Given the description of an element on the screen output the (x, y) to click on. 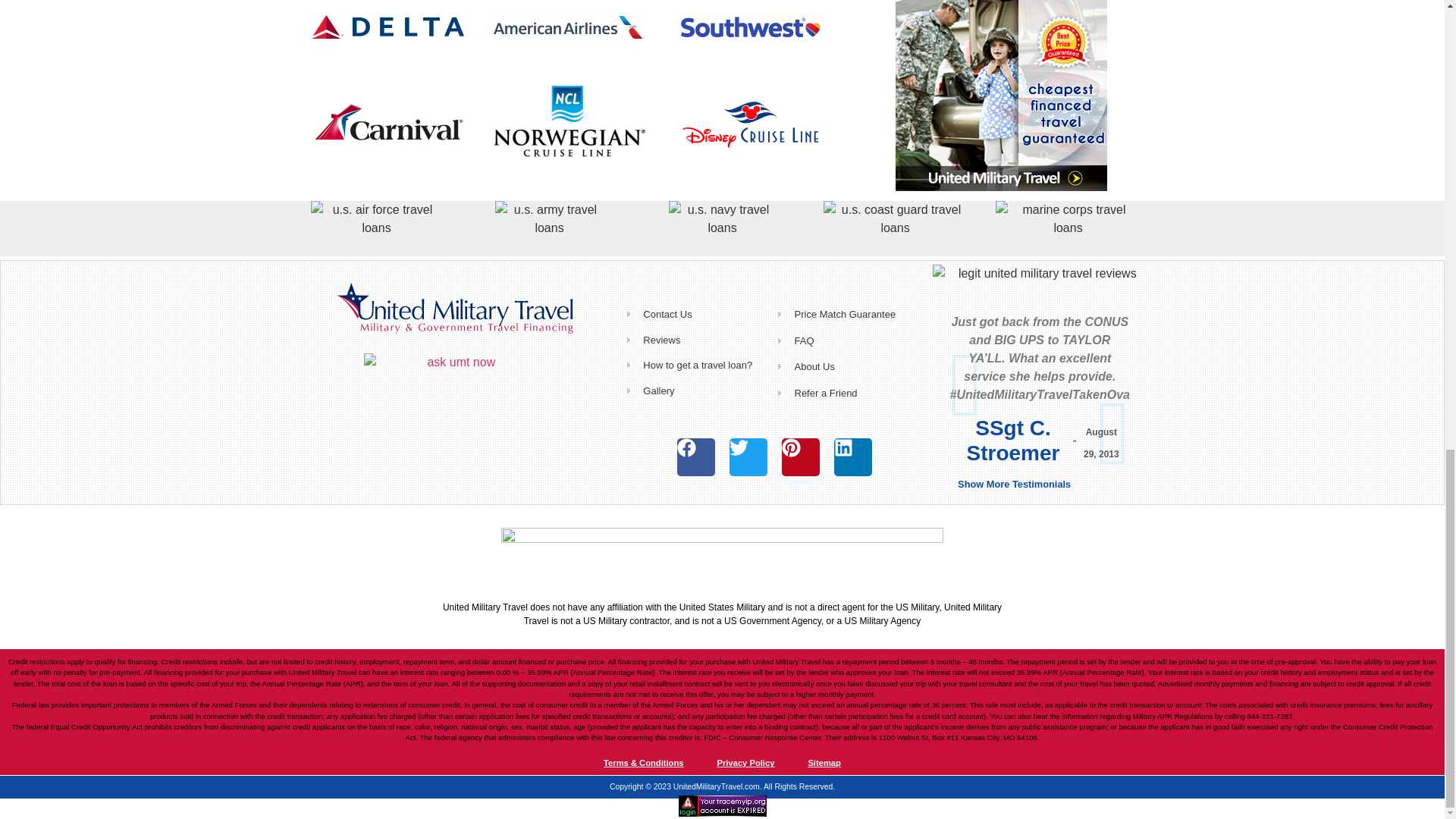
Reviews (699, 340)
Contact Us (699, 314)
Gallery (699, 391)
How to get a travel loan? (699, 365)
FAQ (849, 340)
Price Match Guarantee (849, 314)
